Given the description of an element on the screen output the (x, y) to click on. 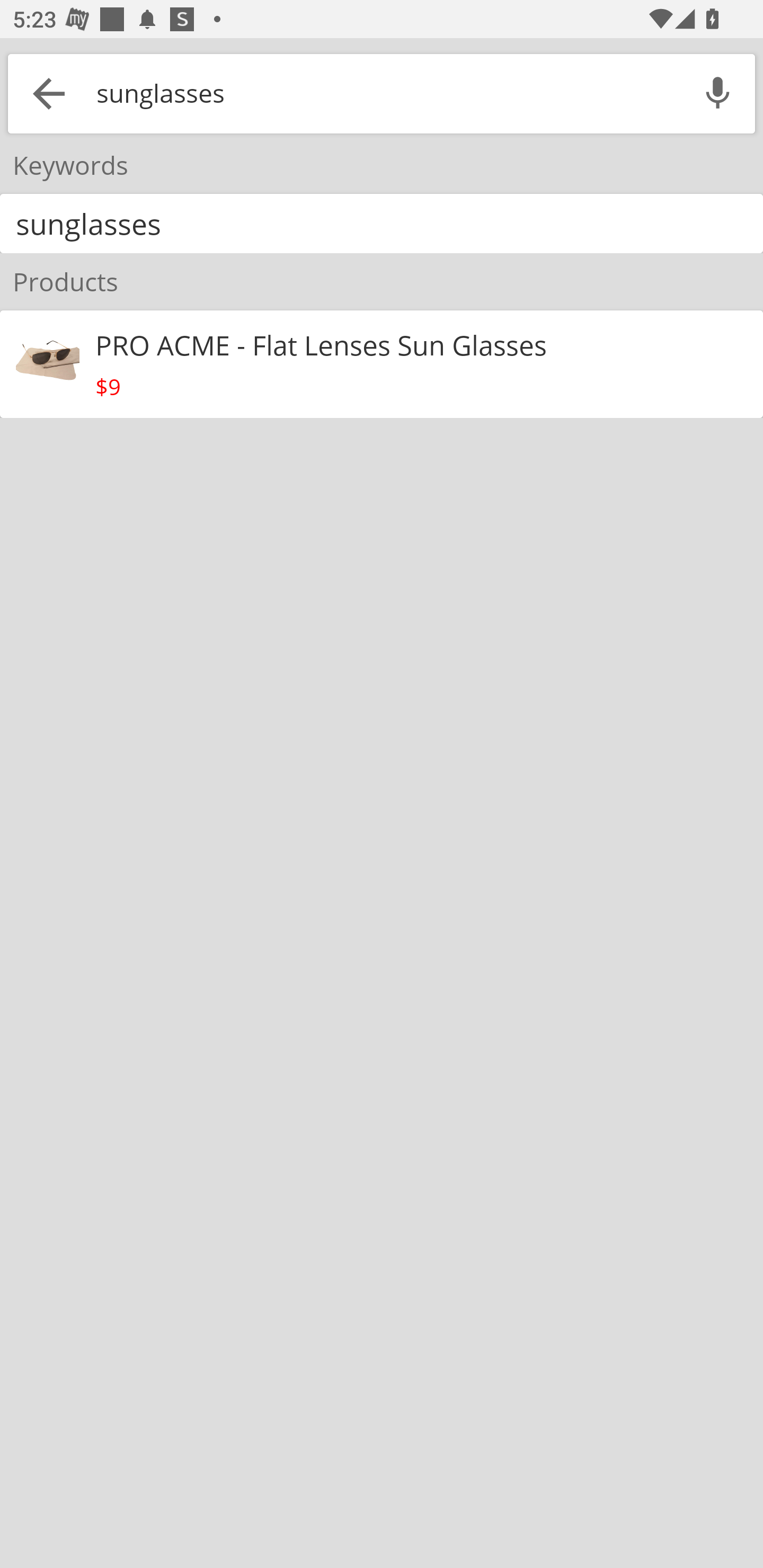
sunglasses (385, 93)
sunglasses (381, 223)
PRO ACME - Flat Lenses Sun Glasses $9 (381, 364)
